Given the description of an element on the screen output the (x, y) to click on. 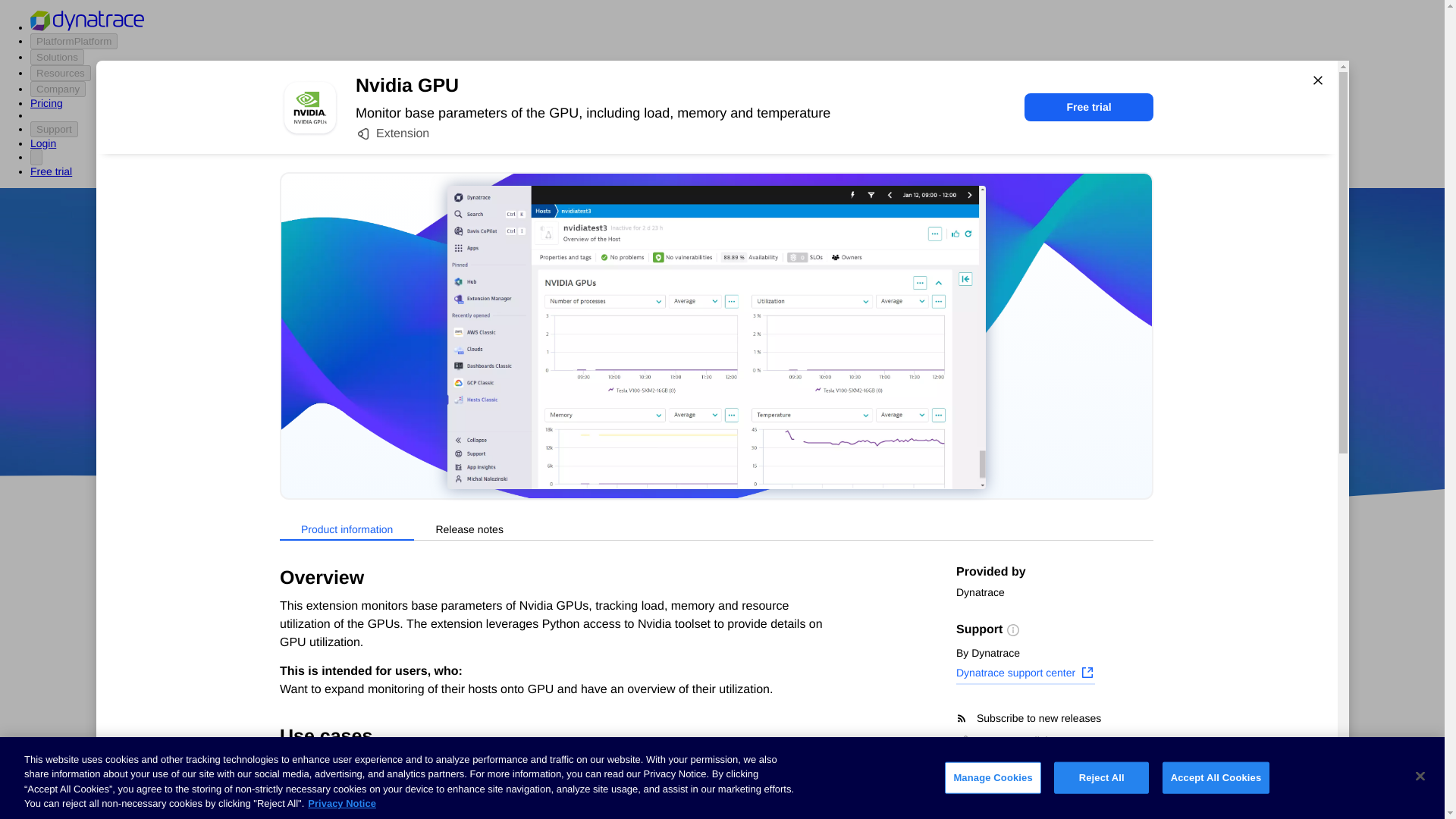
AWS (637, 418)
Open source (903, 418)
Certified Partners (309, 612)
 Envoy Istio Kubernetes Service Mesh (841, 778)
Wipro (840, 375)
Get data into Dynatrace (325, 641)
Google Cloud (751, 418)
Build your own app (314, 669)
Wipro (840, 375)
Subscribe to new releases (1054, 718)
Kubernetes (295, 755)
Copy page link (1003, 740)
Dynatrace support center (1025, 674)
WIPRO Holmes (606, 723)
Free trial (1089, 107)
